Given the description of an element on the screen output the (x, y) to click on. 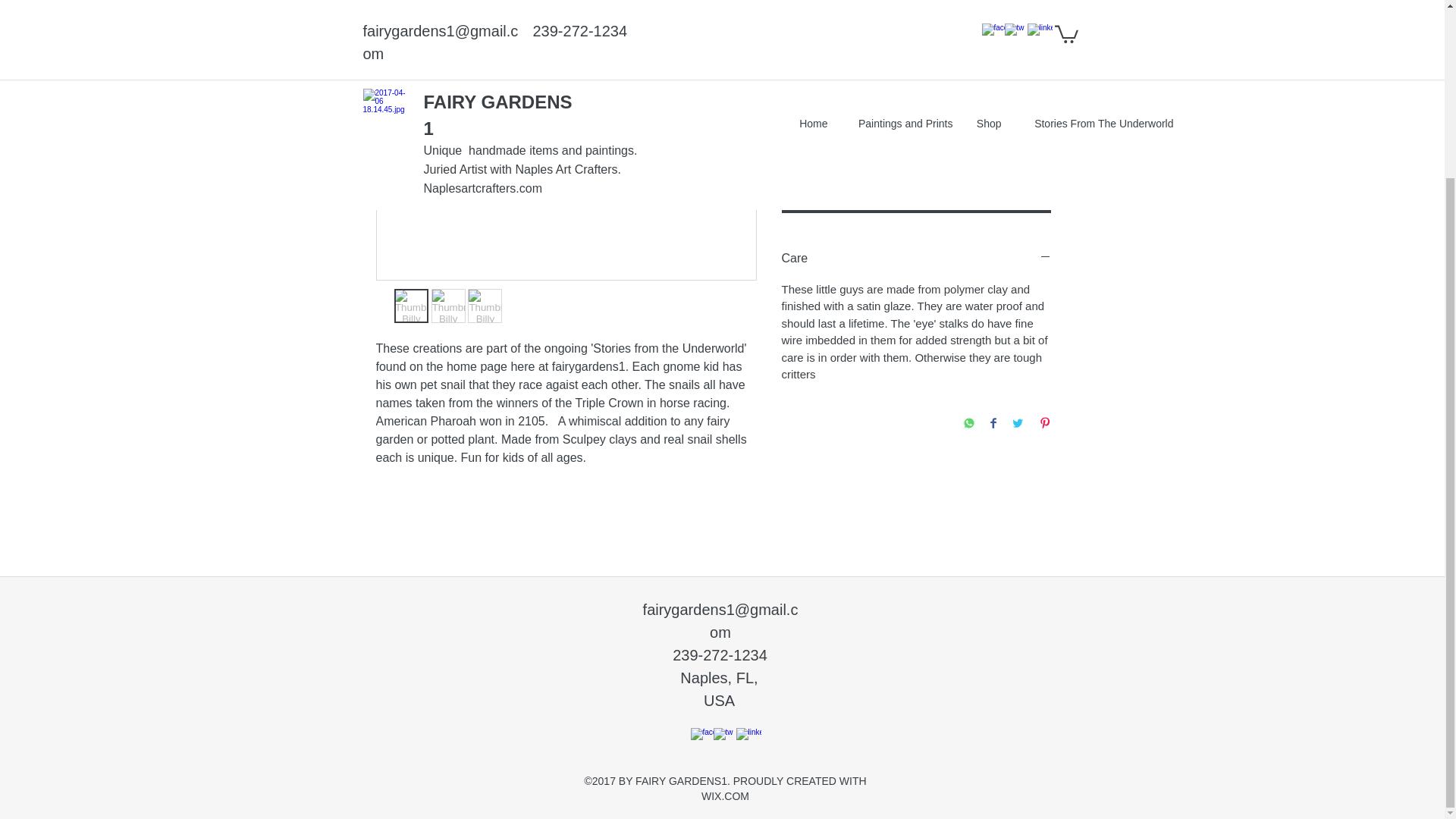
1 (1016, 140)
Add to Cart (914, 197)
Care (914, 258)
